Given the description of an element on the screen output the (x, y) to click on. 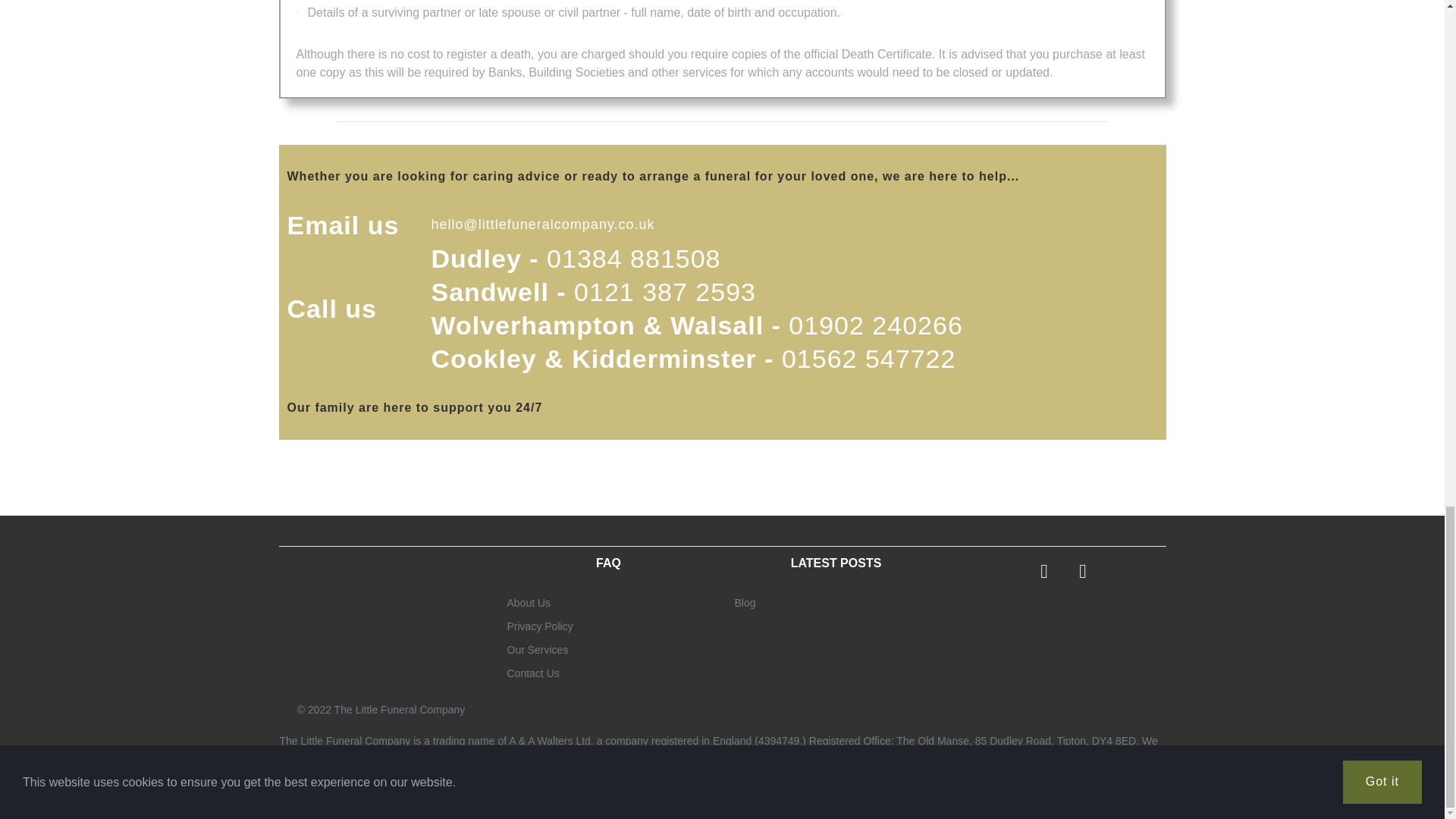
01902 240266 (875, 325)
Contact Us (532, 673)
0121 387 2593 (664, 291)
01384 881508 (633, 258)
Our Services (536, 649)
01562 547722 (868, 358)
About Us (528, 603)
Privacy Policy (539, 625)
